Given the description of an element on the screen output the (x, y) to click on. 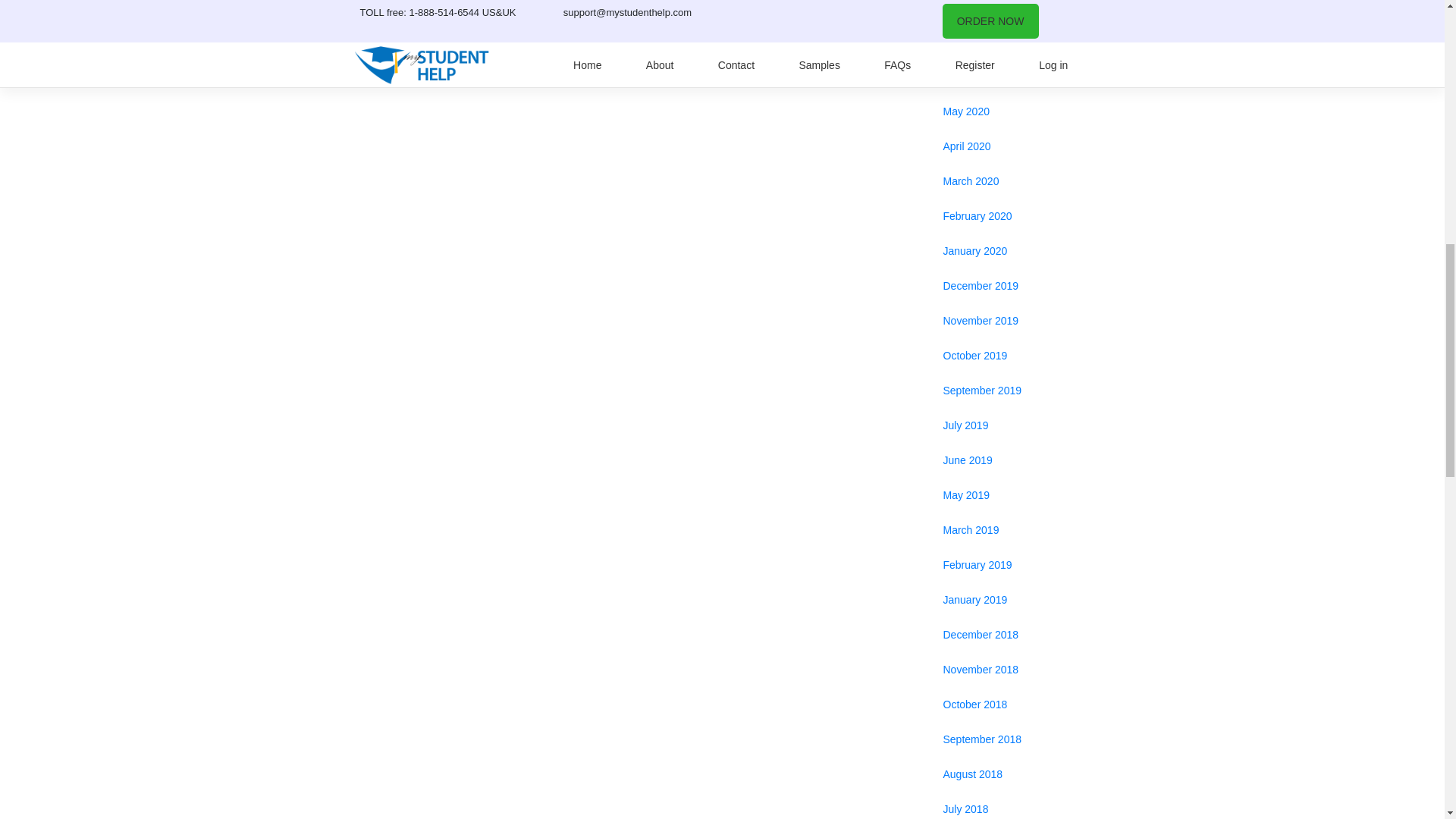
June 2020 (1007, 76)
May 2020 (1007, 111)
July 2020 (1007, 41)
August 2020 (1007, 12)
